Given the description of an element on the screen output the (x, y) to click on. 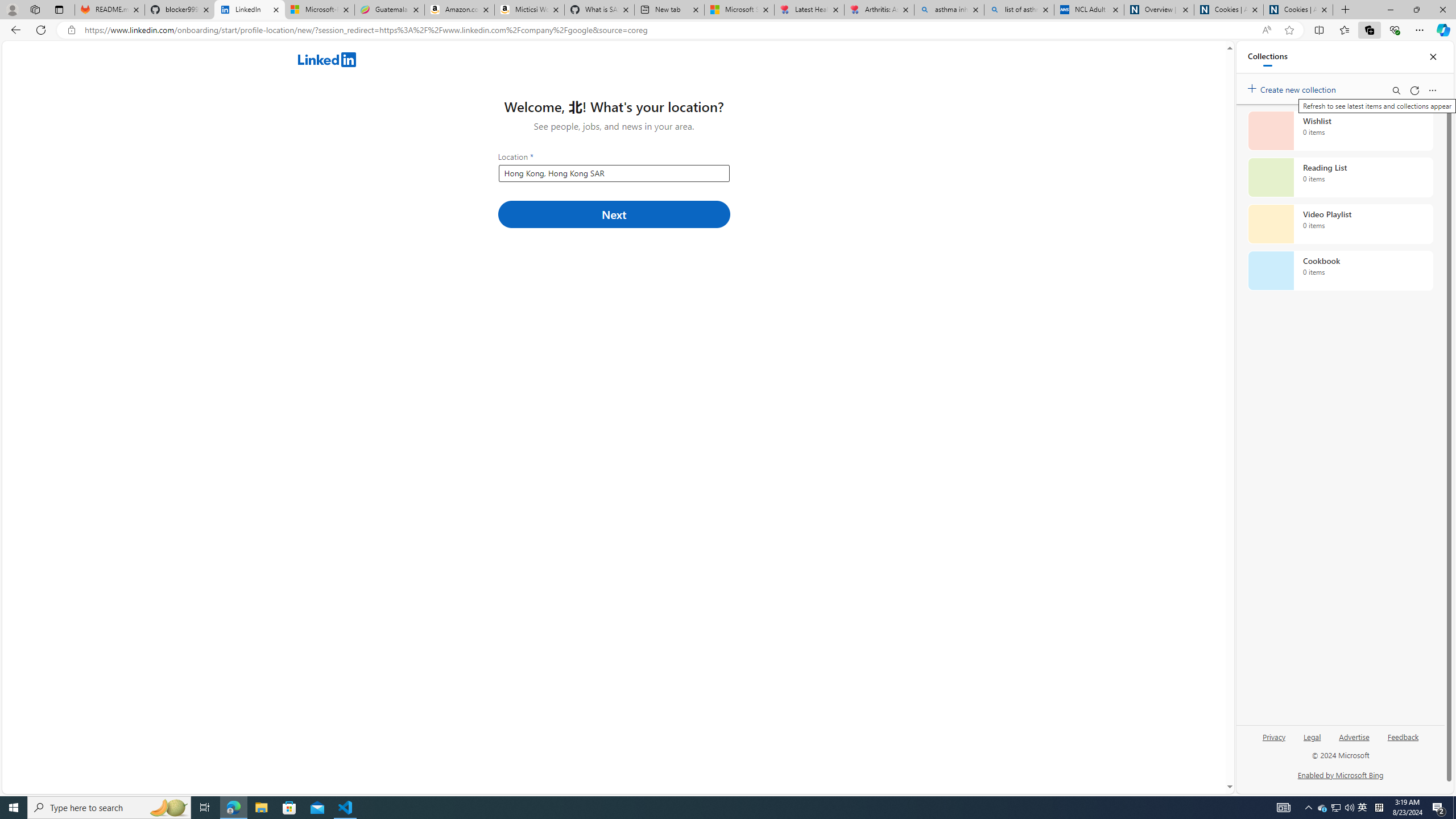
list of asthma inhalers uk - Search (1018, 9)
Cookies | About | NICE (1297, 9)
Arthritis: Ask Health Professionals (879, 9)
More options menu (1432, 90)
Wishlist collection, 0 items (1339, 130)
